Given the description of an element on the screen output the (x, y) to click on. 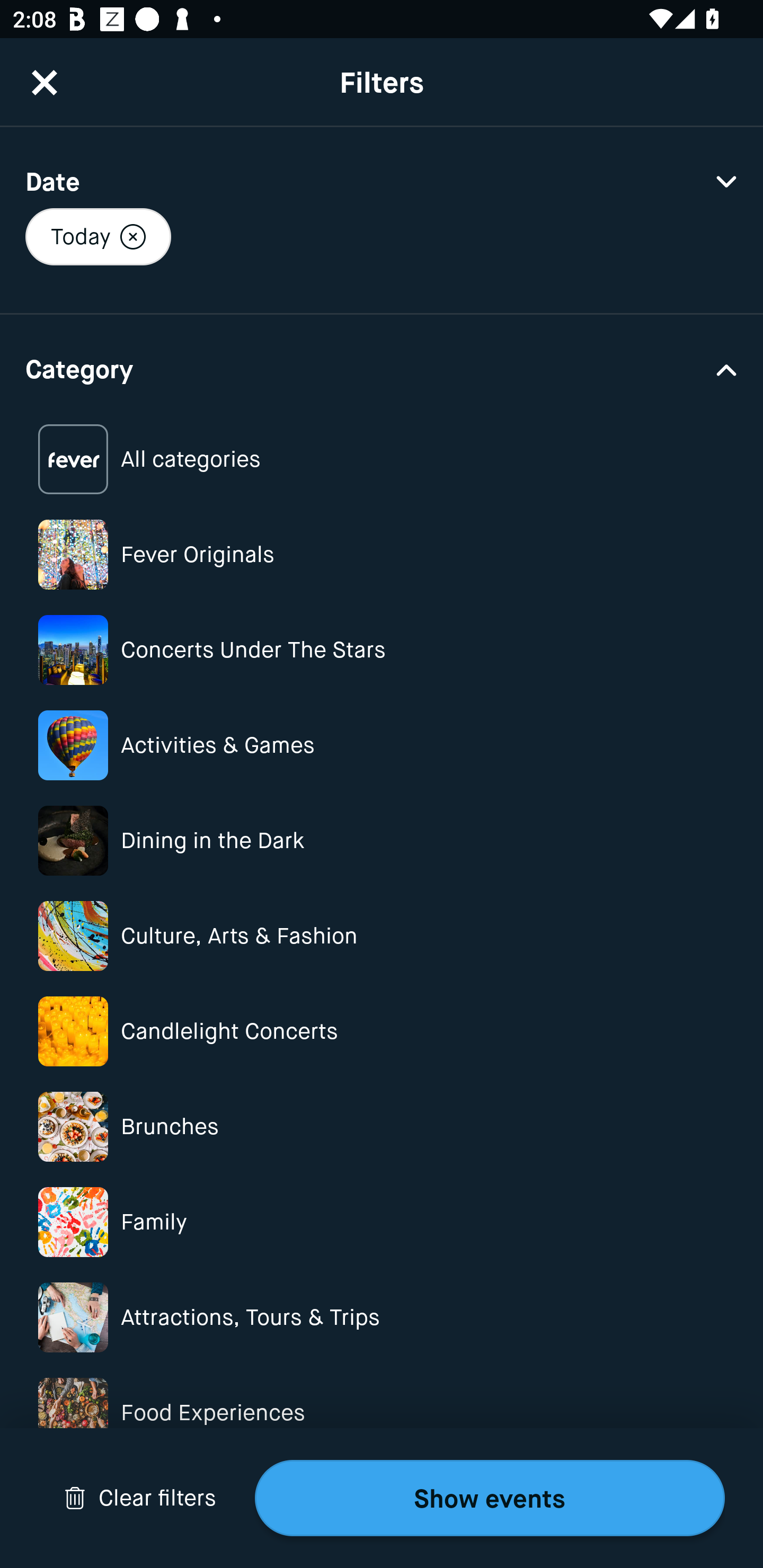
CloseButton (44, 82)
Date Drop Down Arrow Today Localized description (381, 221)
Today Localized description (97, 236)
Category Drop Down Arrow (381, 368)
Category Image All categories (381, 459)
Category Image Fever Originals (381, 553)
Category Image Concerts Under The Stars (381, 649)
Category Image Activities & Games (381, 745)
Category Image Dining in the Dark (381, 840)
Category Image Culture, Arts & Fashion (381, 935)
Category Image Candlelight Concerts (381, 1030)
Category Image Brunches (381, 1126)
Category Image Family (381, 1221)
Category Image Attractions, Tours & Trips (381, 1317)
Category Image Food Experiences (381, 1412)
Drop Down Arrow Clear filters (139, 1497)
Show events (489, 1497)
